Given the description of an element on the screen output the (x, y) to click on. 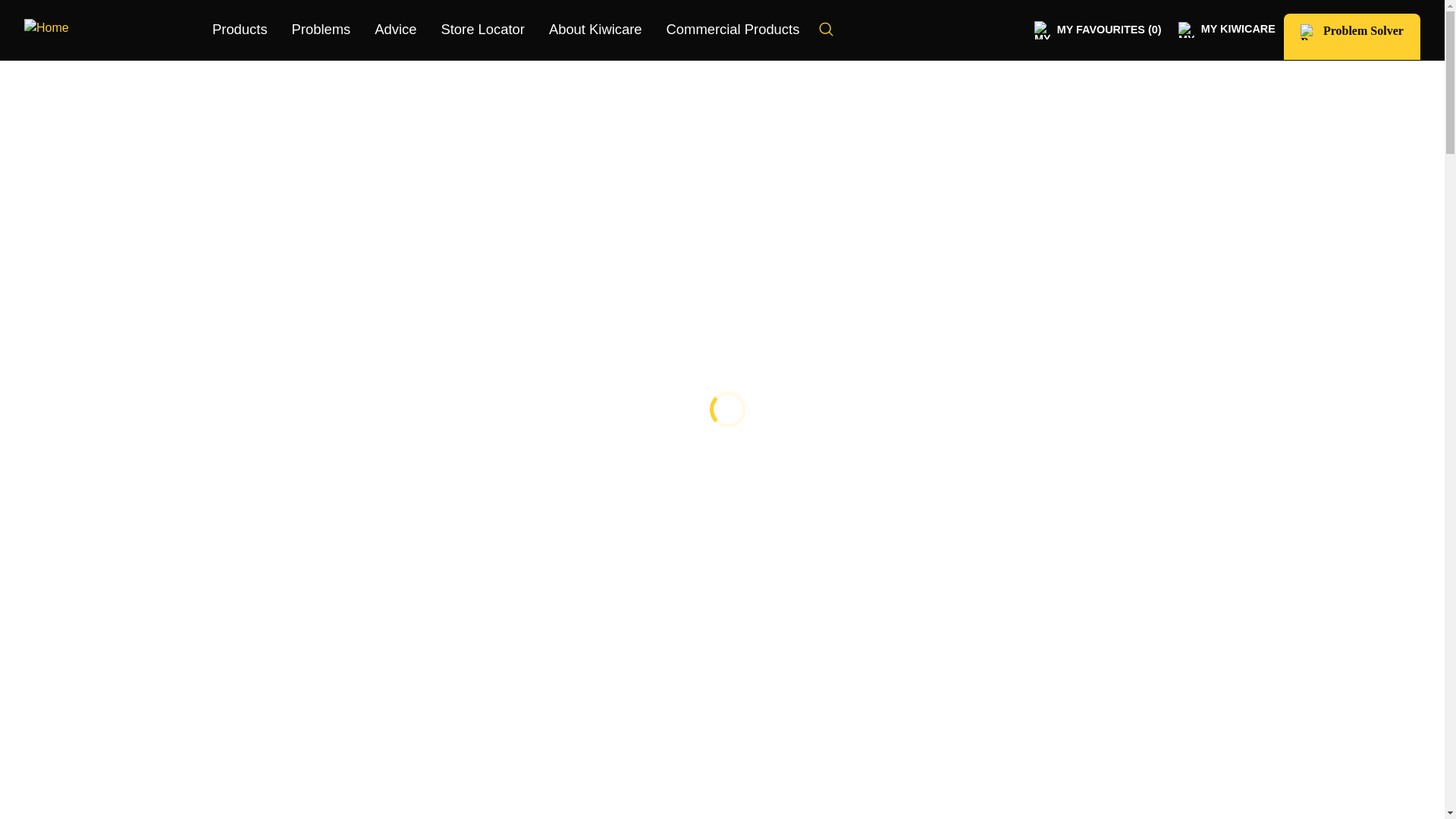
Products (239, 29)
